Given the description of an element on the screen output the (x, y) to click on. 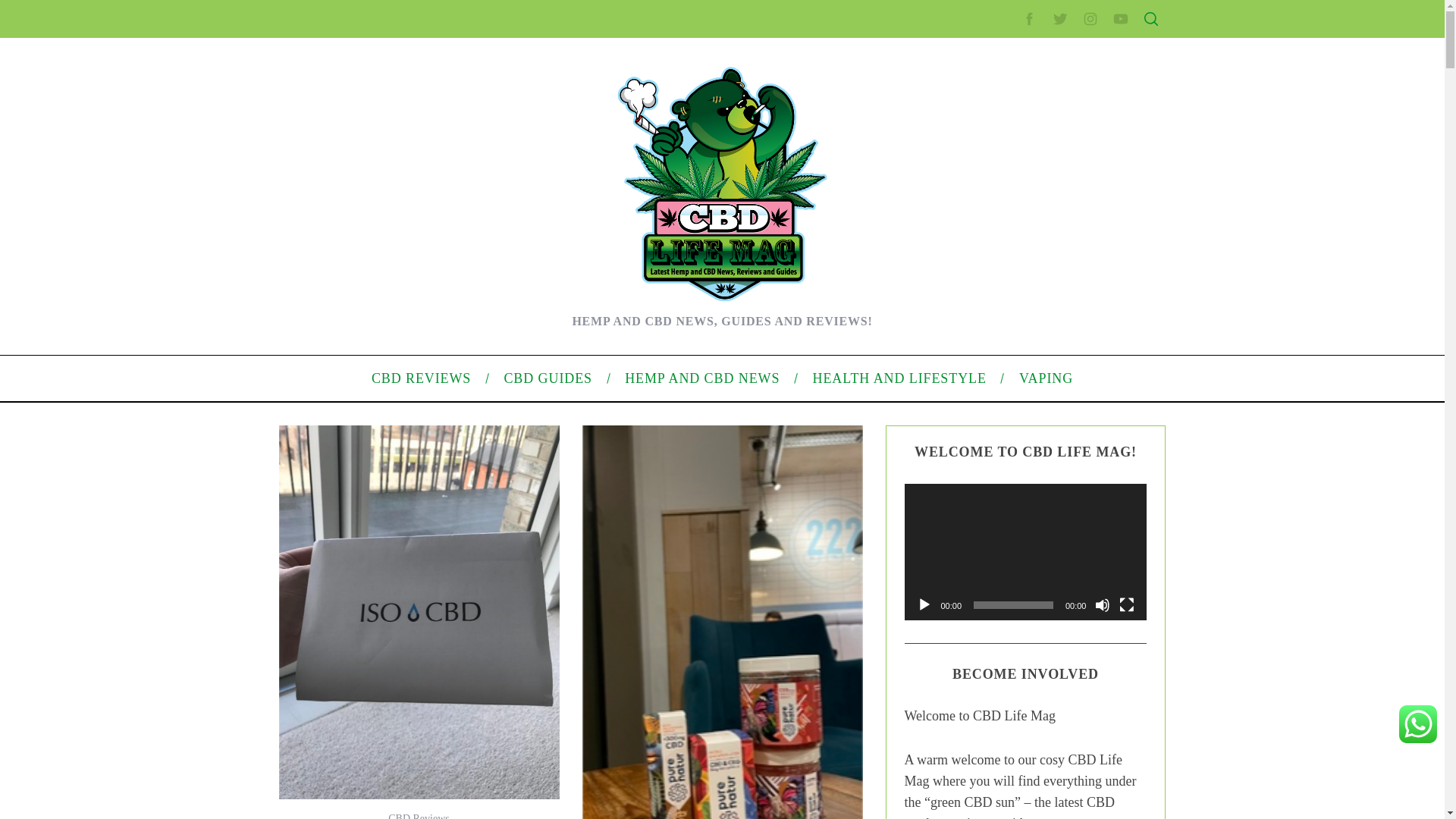
The Dark Yorkshire Series: Books 4 To 6 (416, 250)
Search (1050, 85)
Am Joy (339, 514)
Skip to content (34, 9)
ADMINISTRATOR (417, 81)
Latest Article (996, 172)
Customer Reviews (365, 322)
Books (336, 418)
CUPCAKEDELIGHTS.CO.UK (433, 28)
Contact Us (991, 258)
Blog (976, 510)
Log in (980, 588)
Terms of Use (996, 330)
Joy On Demand: The Art Of Discovering The Happiness Within (469, 273)
